Given the description of an element on the screen output the (x, y) to click on. 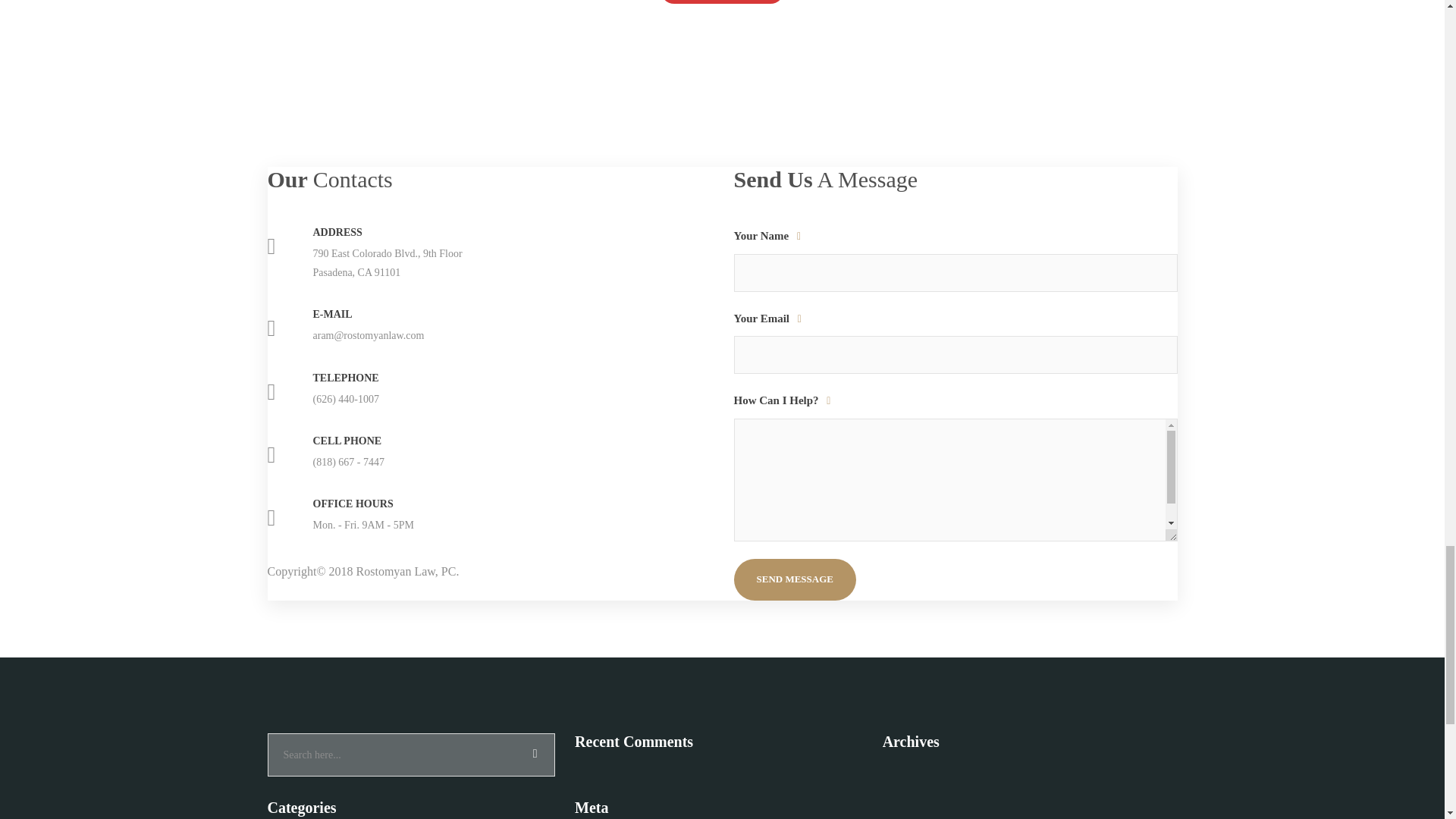
SEND MESSAGE (795, 579)
SEND MESSAGE (795, 579)
Like us on Yelp! (722, 2)
Search text (410, 755)
